Given the description of an element on the screen output the (x, y) to click on. 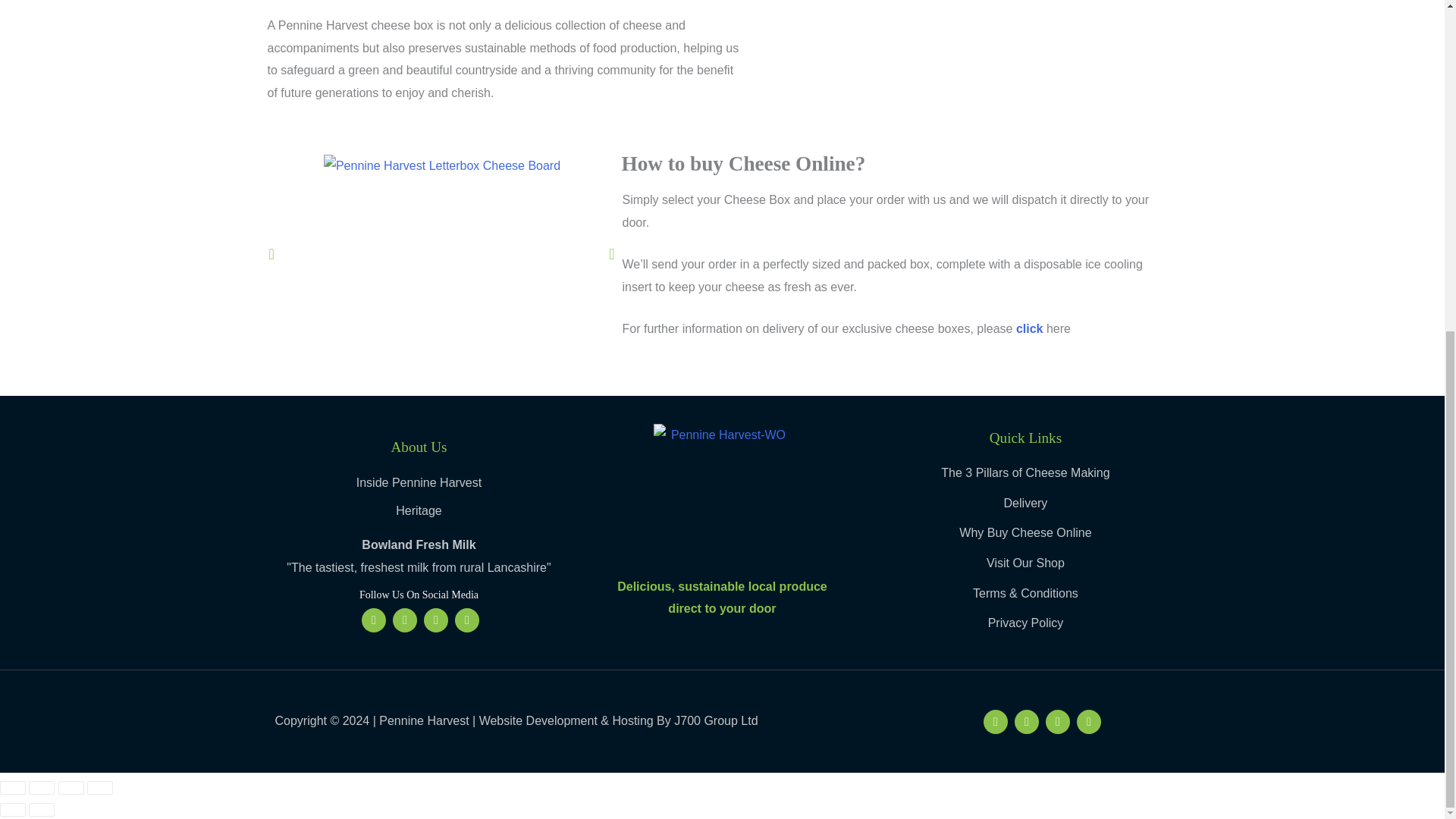
The 3 Pillars of Cheese Making (1024, 472)
click (1029, 328)
Heritage (418, 510)
Bowland Fresh Milk (418, 544)
Inside Pennine Harvest (418, 481)
"The tastiest, freshest milk from rural Lancashire" (418, 567)
